Given the description of an element on the screen output the (x, y) to click on. 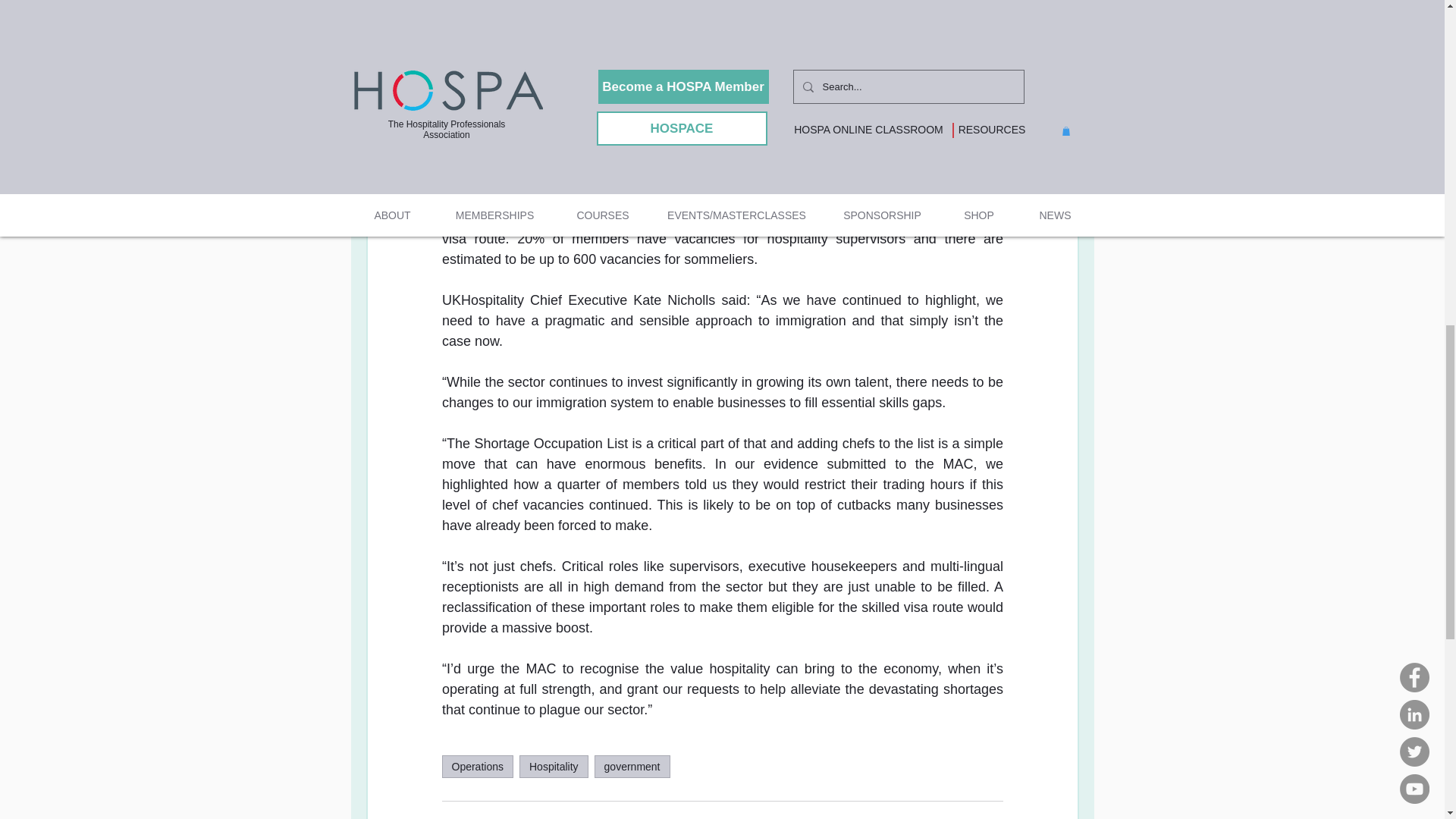
Hospitality (553, 766)
government (631, 766)
Operations (476, 766)
The Overview (970, 818)
